Given the description of an element on the screen output the (x, y) to click on. 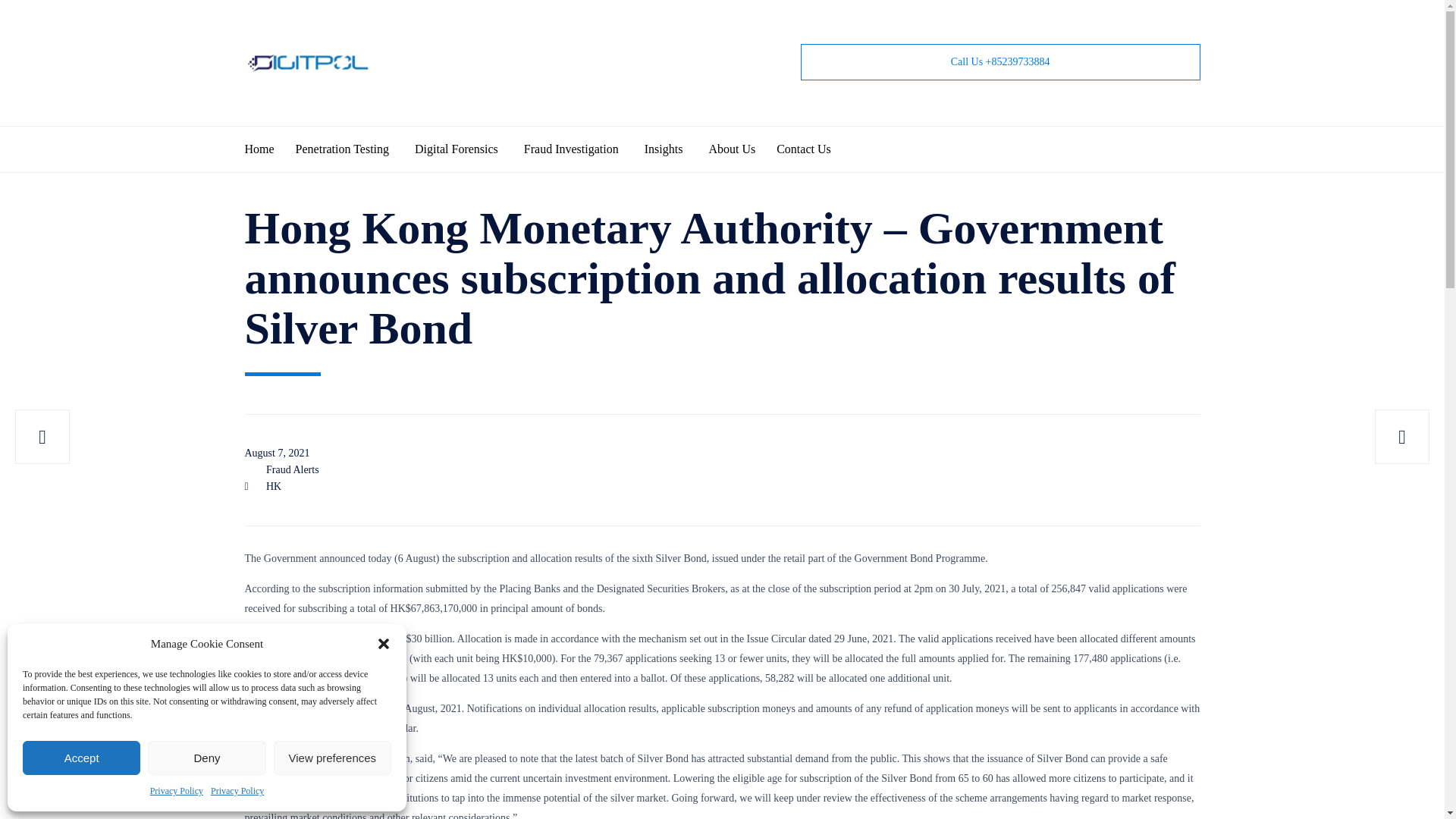
Penetration Testing (354, 148)
Fraud Investigation (584, 148)
Privacy Policy (176, 791)
Accept (81, 757)
DIGITPOL (307, 63)
View preferences (332, 757)
Privacy Policy (237, 791)
Home (269, 148)
Digital Forensics (469, 148)
